Given the description of an element on the screen output the (x, y) to click on. 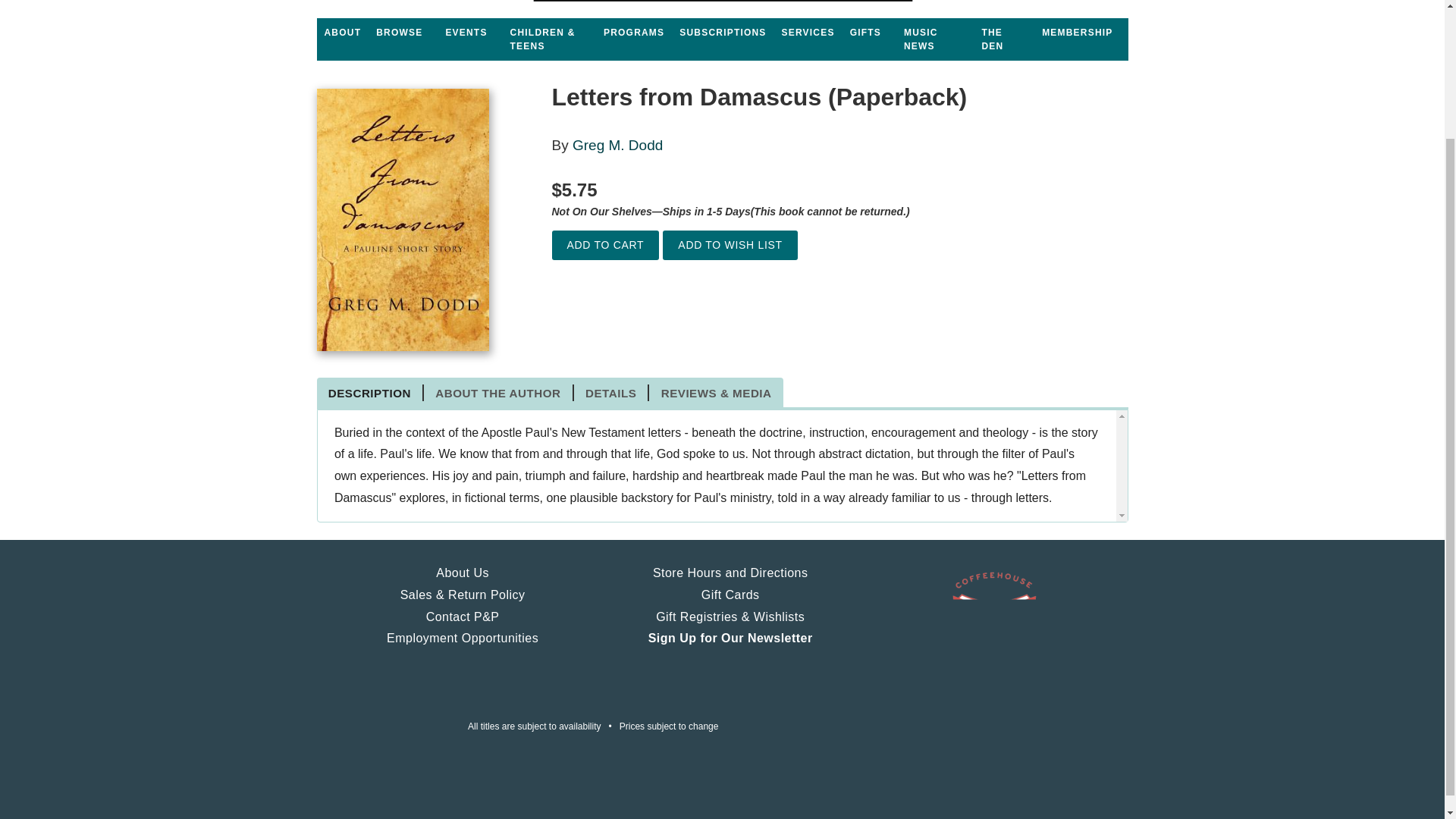
Children and Teens Department (548, 39)
Add to Wish List (729, 245)
Add to Cart (605, 245)
BROWSE (398, 32)
Browse our shelves (398, 32)
See our event calendar (465, 32)
SERVICES (808, 32)
ABOUT (343, 32)
PROGRAMS (633, 32)
See information about our programs (633, 32)
EVENTS (465, 32)
SUBSCRIPTIONS (722, 32)
